Given the description of an element on the screen output the (x, y) to click on. 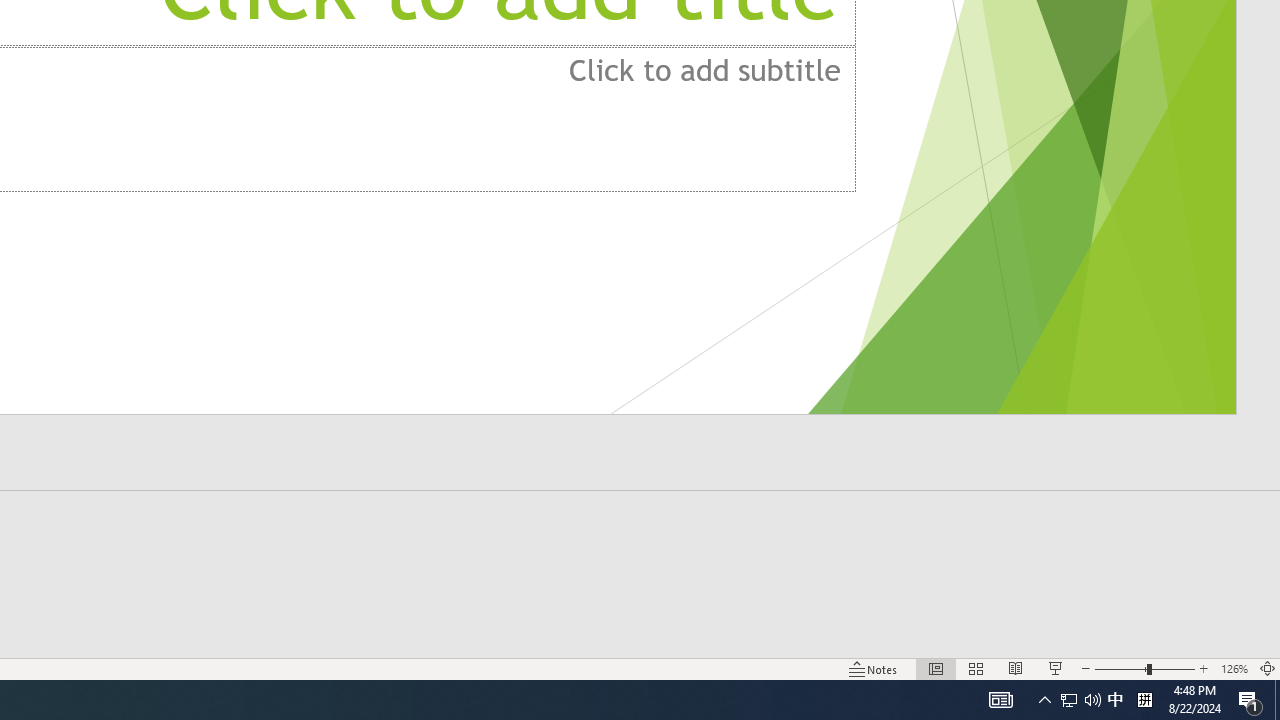
Zoom 126% (1234, 668)
